Given the description of an element on the screen output the (x, y) to click on. 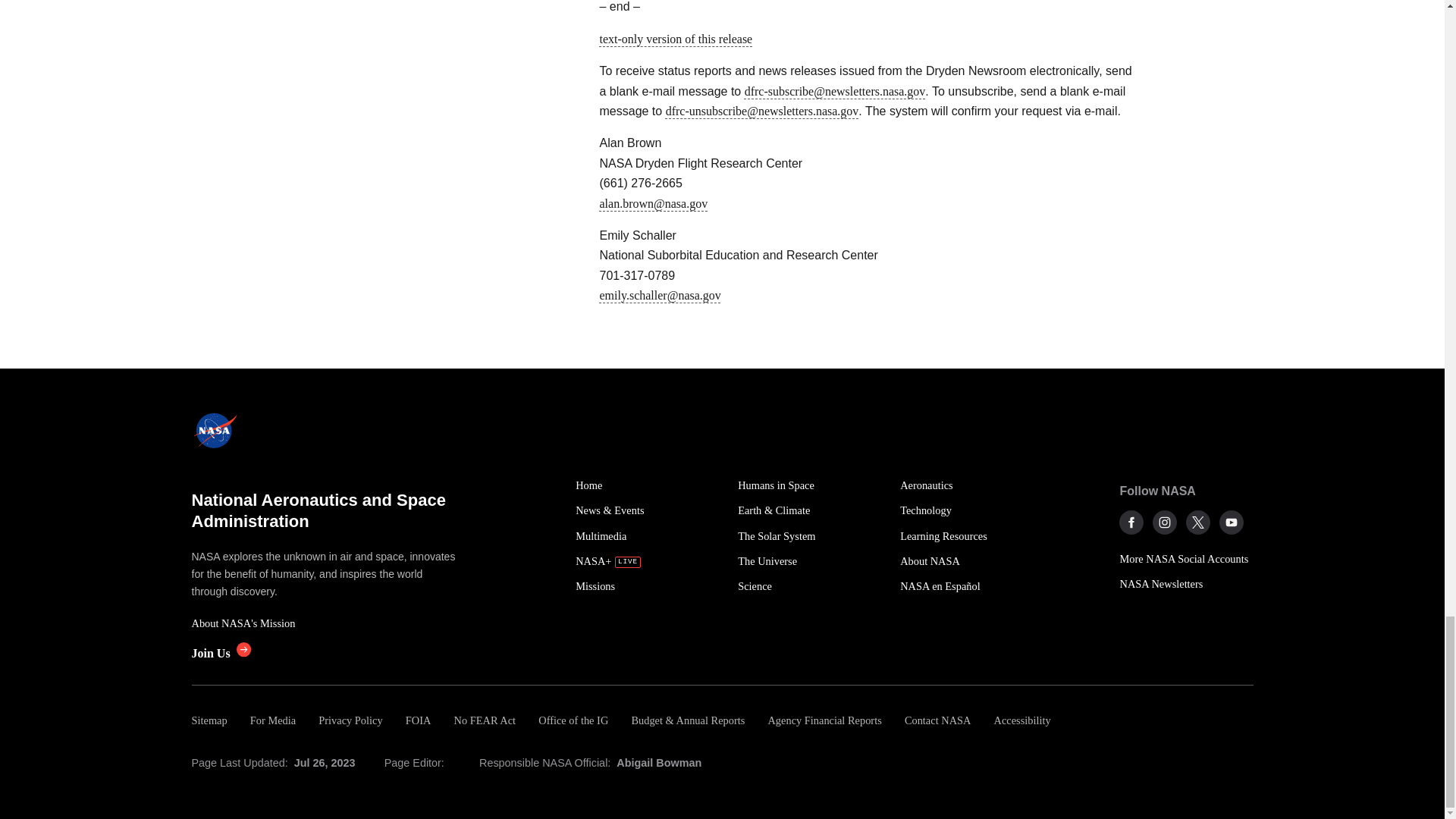
text-only version of this release (675, 38)
Multimedia (647, 536)
NASA on X (1197, 522)
About NASA's Mission (324, 623)
NASA on YouTube (1231, 522)
NASA on Facebook (1130, 522)
Home (647, 485)
Join Us (220, 653)
NASA on Instagram (1164, 522)
